Given the description of an element on the screen output the (x, y) to click on. 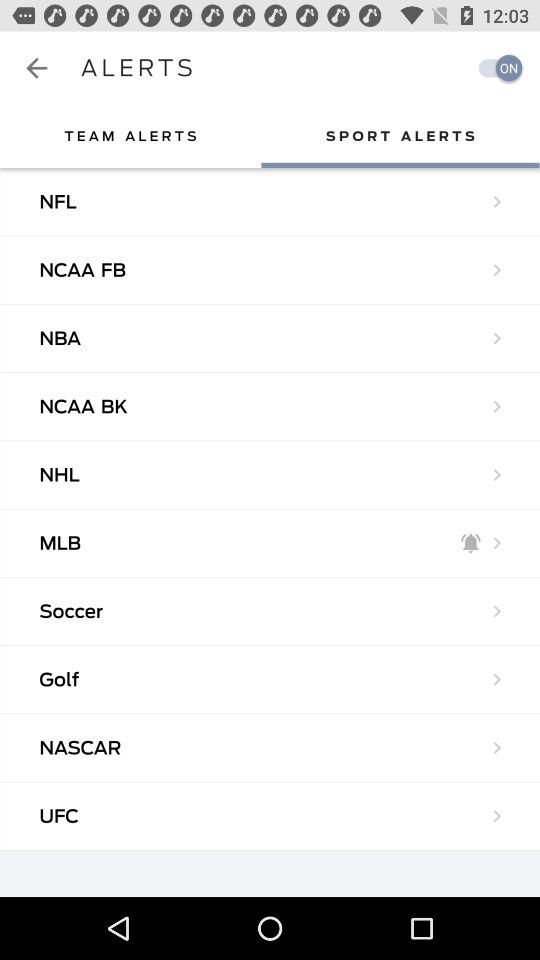
choose app next to alerts icon (36, 68)
